Given the description of an element on the screen output the (x, y) to click on. 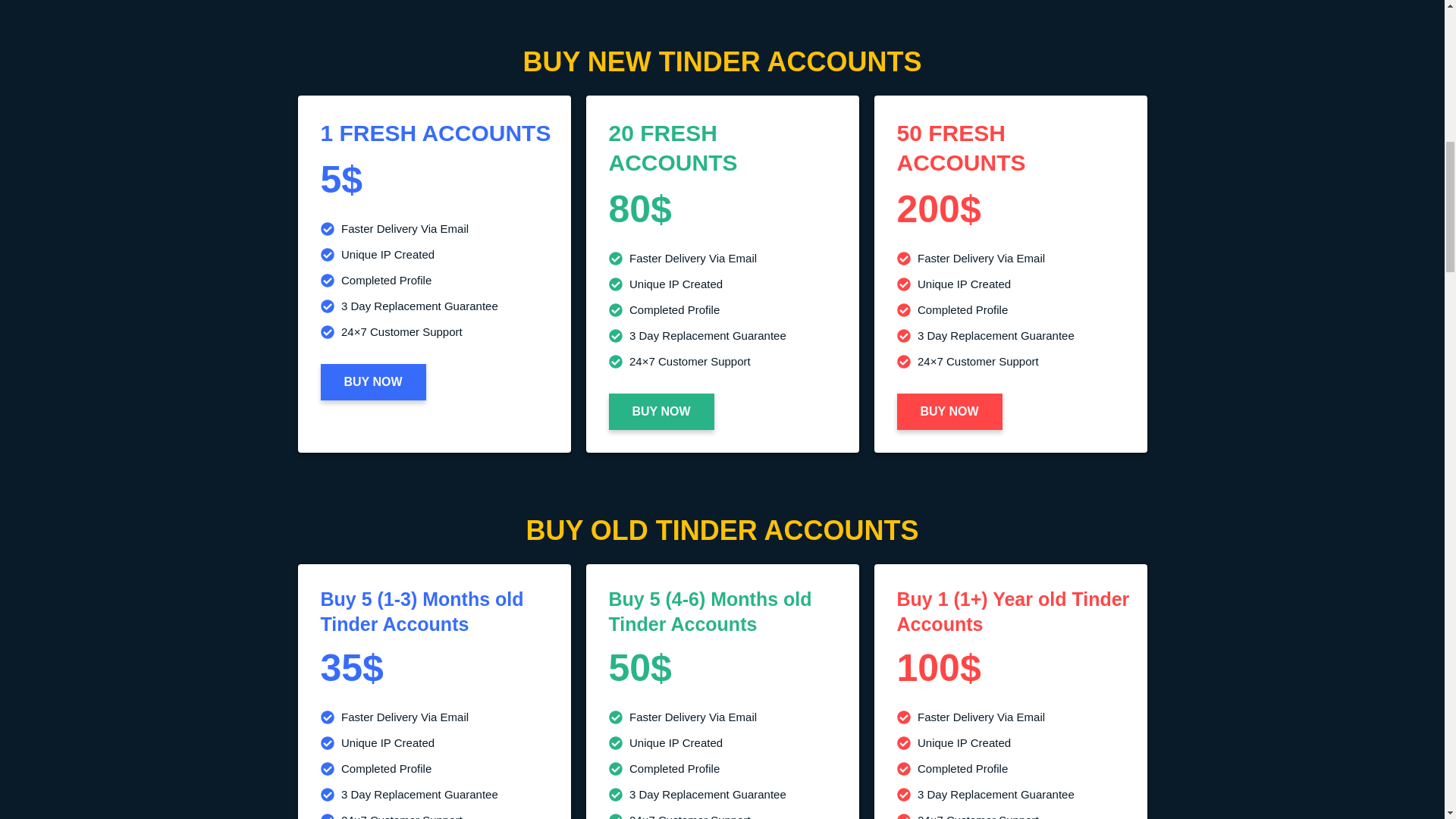
BUY NOW (372, 381)
BUY NOW (660, 411)
BUY NOW (948, 411)
